Given the description of an element on the screen output the (x, y) to click on. 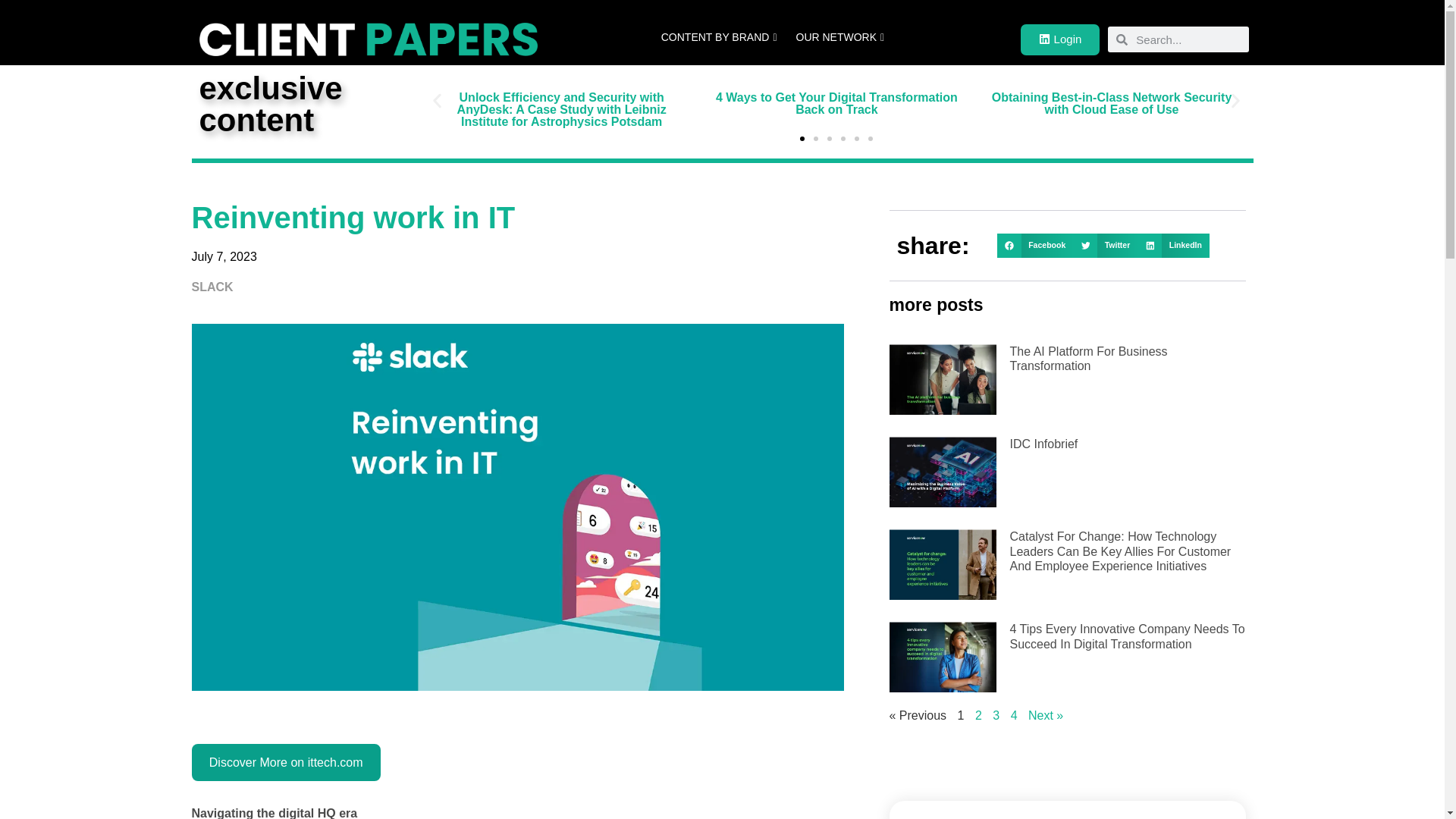
CONTENT BY BRAND (721, 37)
OUR NETWORK (842, 37)
